Given the description of an element on the screen output the (x, y) to click on. 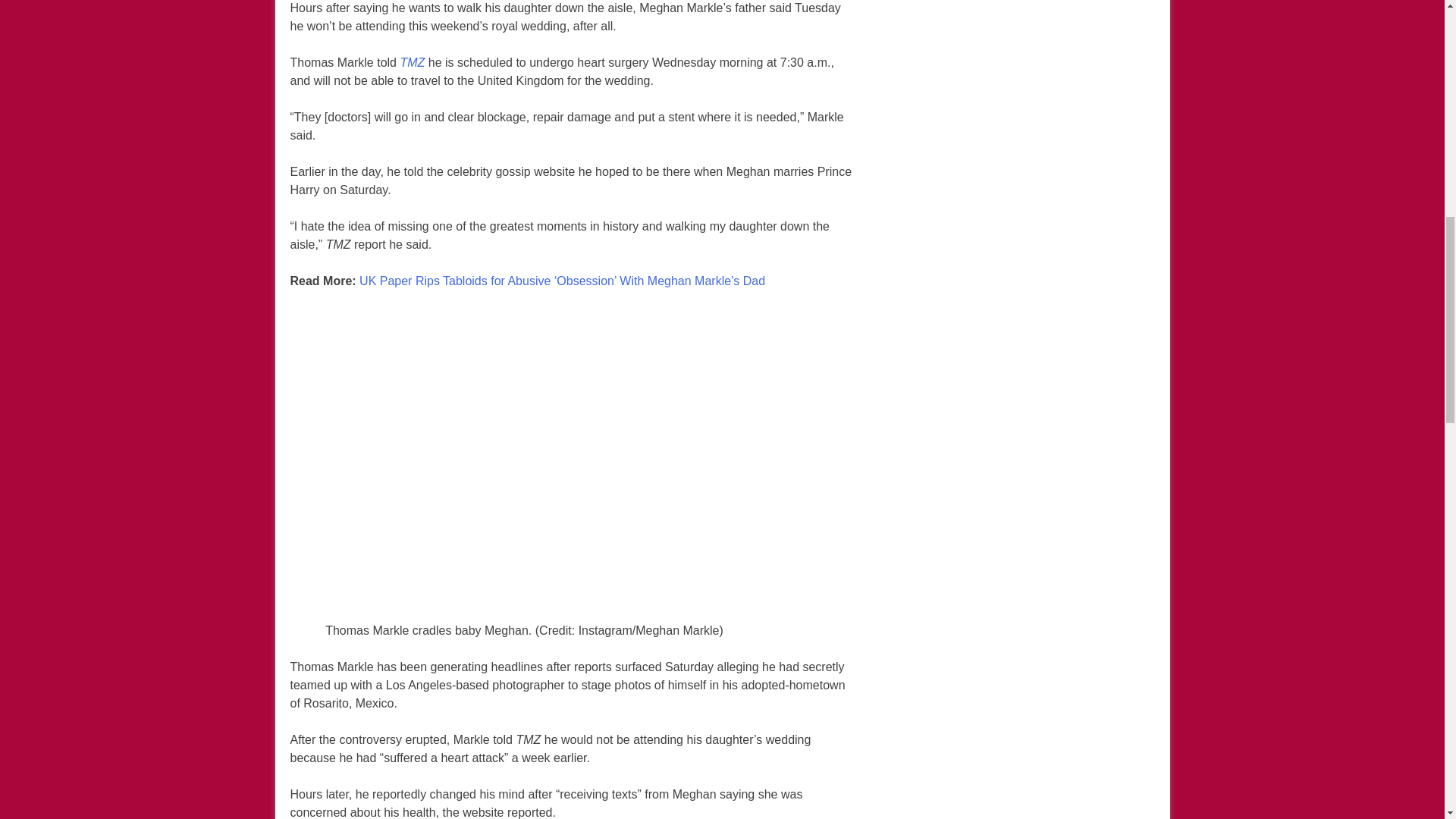
TMZ (411, 63)
